Given the description of an element on the screen output the (x, y) to click on. 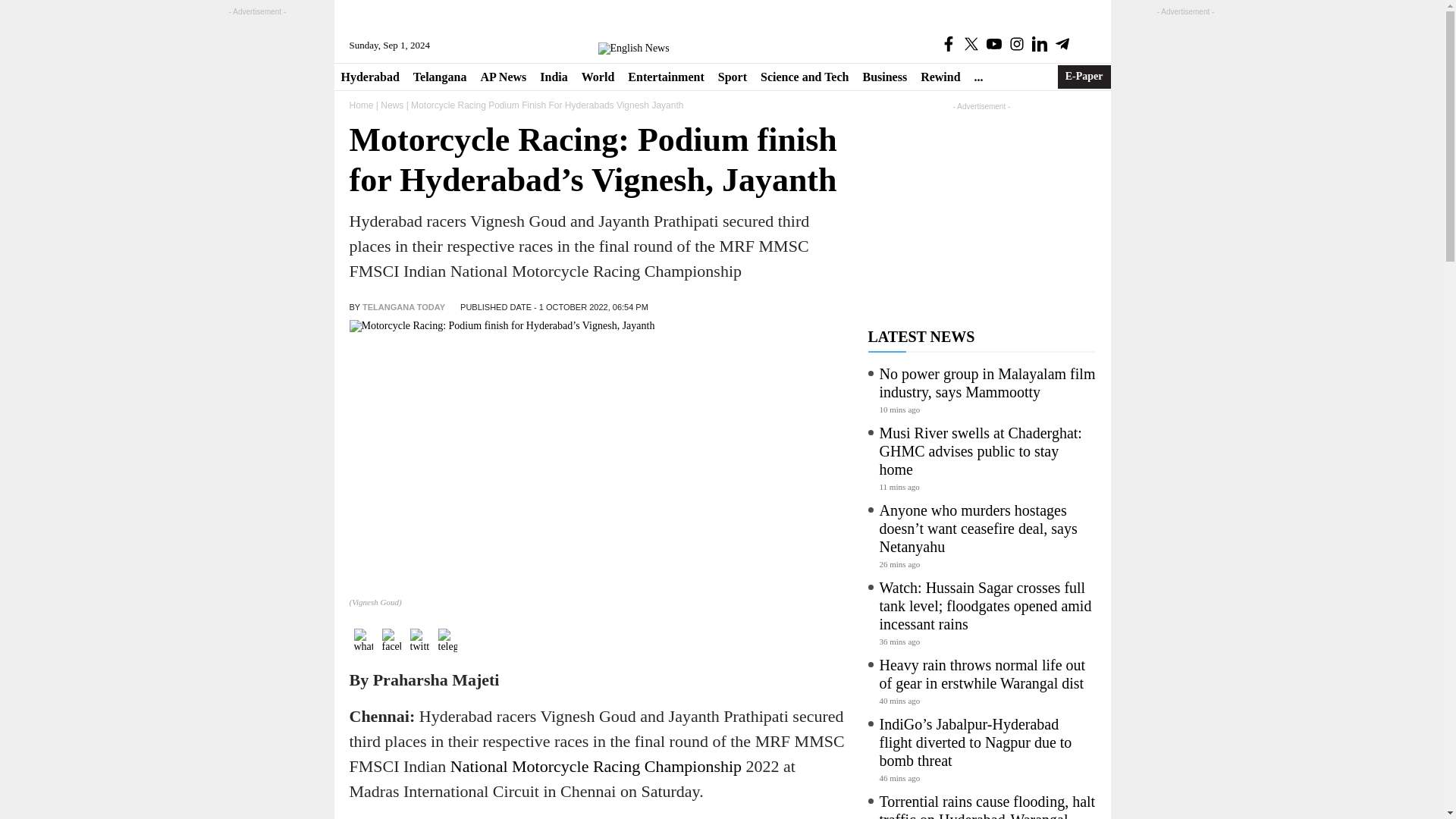
India (552, 76)
World (598, 76)
... (979, 76)
Rewind (940, 76)
E-Paper (1084, 76)
News (391, 104)
... (979, 76)
Hyderabad (369, 76)
AP News (502, 76)
Telangana (440, 76)
